Given the description of an element on the screen output the (x, y) to click on. 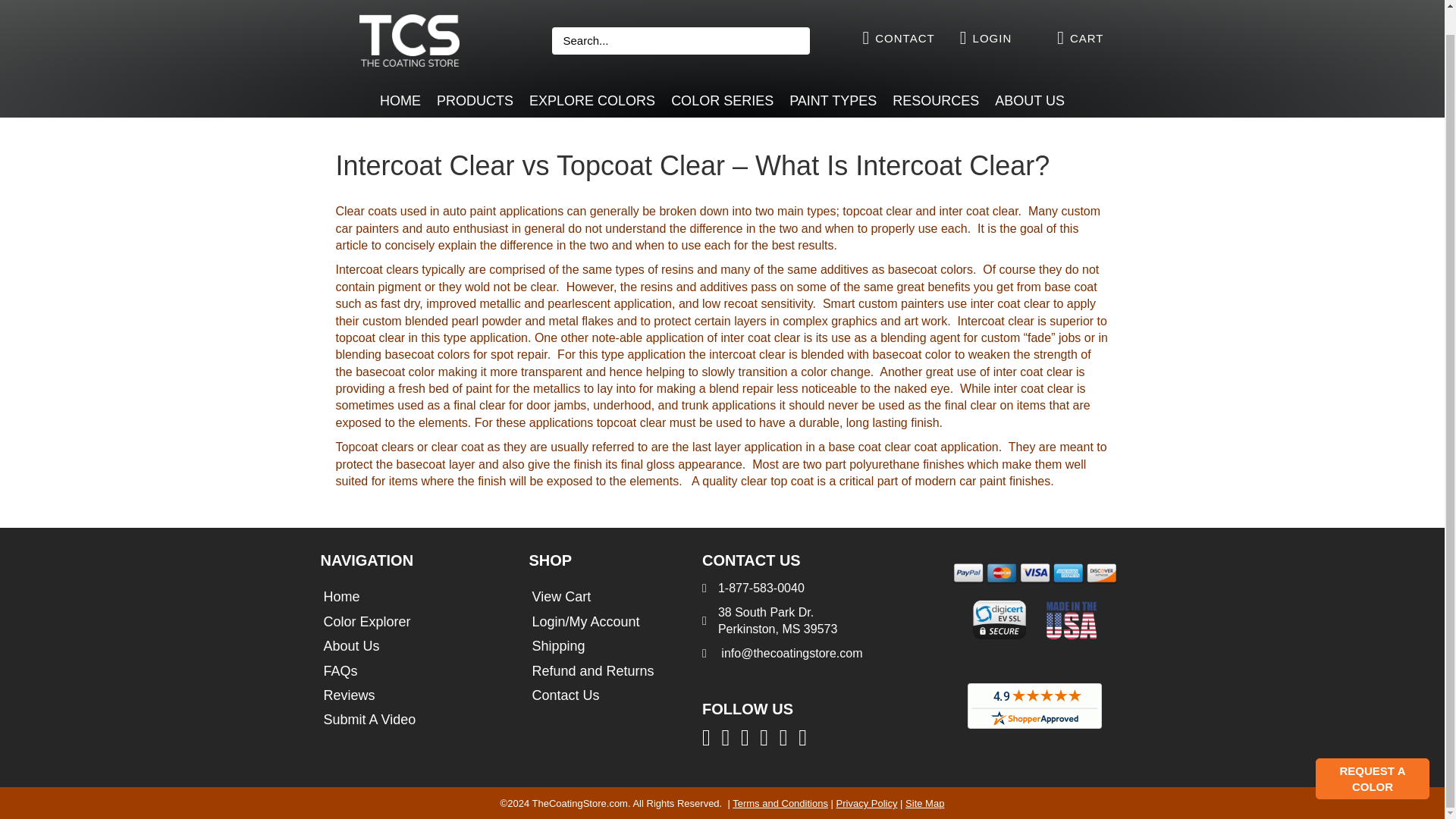
PRODUCTS (475, 100)
HOME (400, 100)
TCS-Logo-New (409, 40)
CONTACT (904, 37)
EXPLORE COLORS (591, 100)
CART (1086, 37)
LOGIN (991, 37)
